Given the description of an element on the screen output the (x, y) to click on. 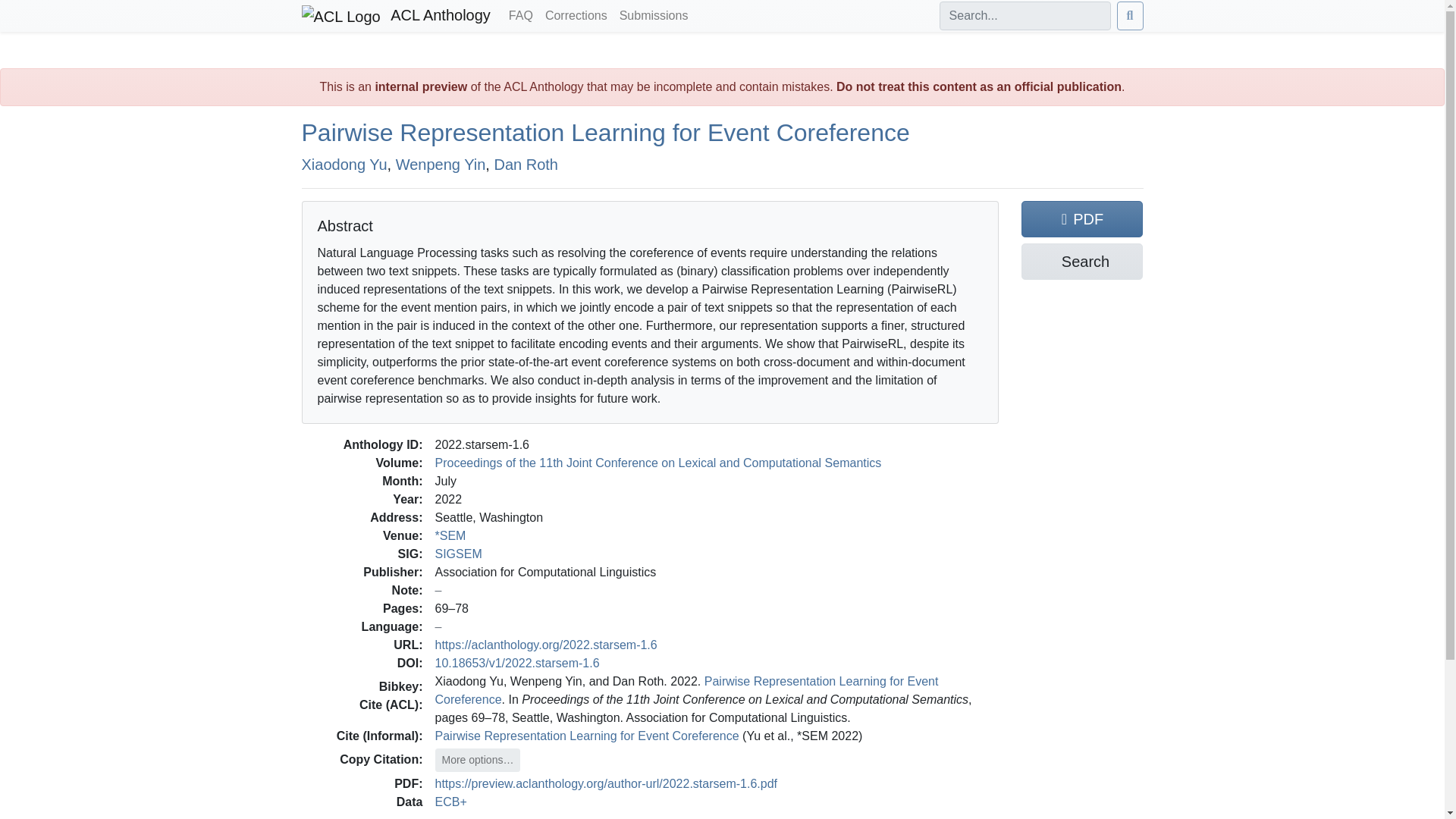
To the current version of the paper by DOI (517, 662)
Xiaodong Yu (344, 164)
Pairwise Representation Learning for Event Coreference (687, 689)
Wenpeng Yin (441, 164)
Search (1082, 261)
PDF (1082, 218)
Pairwise Representation Learning for Event Coreference (605, 132)
ACL Anthology (395, 15)
Pairwise Representation Learning for Event Coreference (587, 735)
Dan Roth (525, 164)
SIGSEM (458, 553)
